Given the description of an element on the screen output the (x, y) to click on. 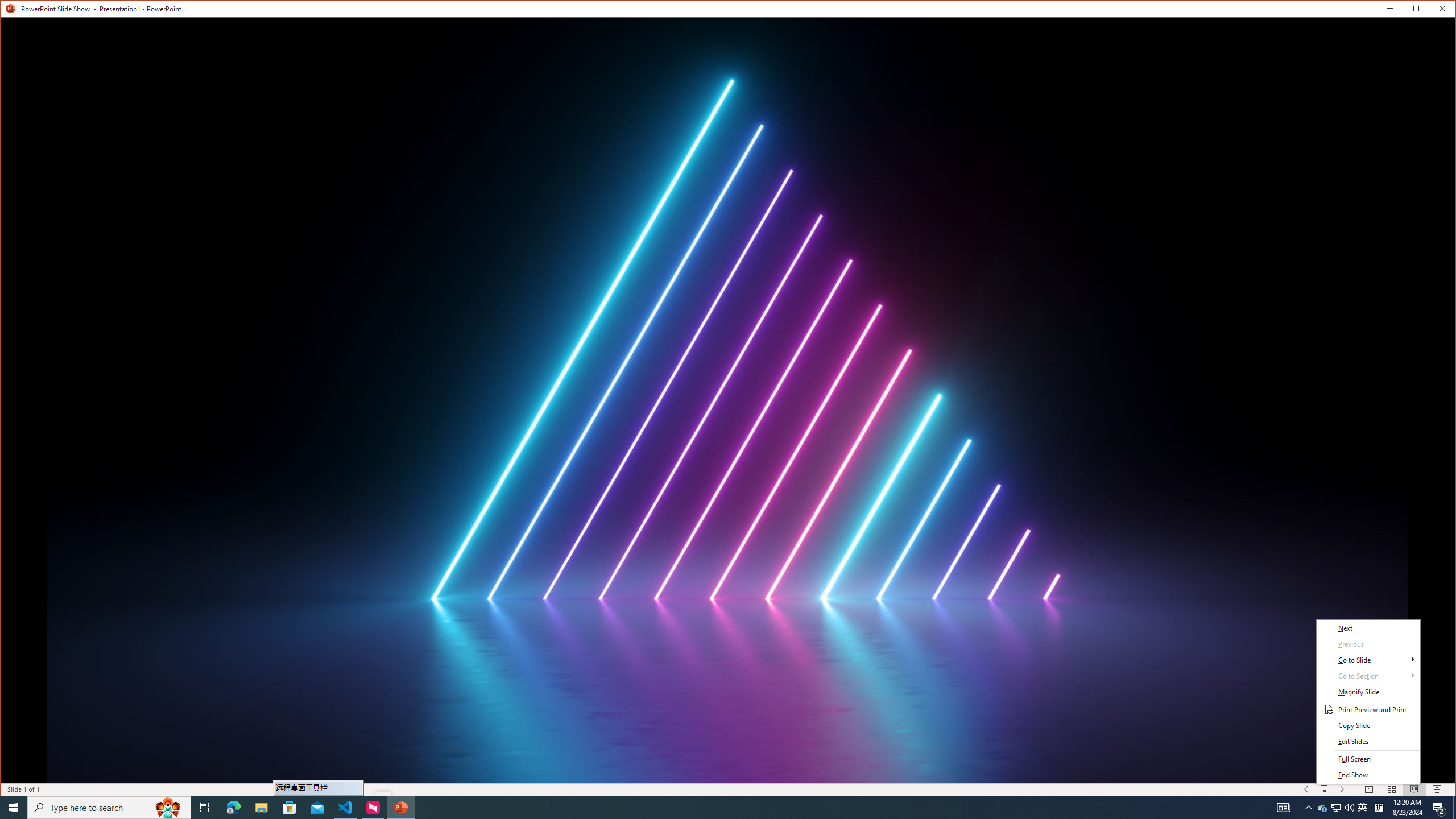
Notification Chevron (1308, 807)
Class: NetUITWMenuContainer (1368, 701)
Action Center, 2 new notifications (1439, 807)
AutomationID: 4105 (1283, 807)
Running applications (1335, 807)
User Promoted Notification Area (700, 807)
Go to Section (1336, 807)
Search highlights icon opens search home window (1368, 675)
